Given the description of an element on the screen output the (x, y) to click on. 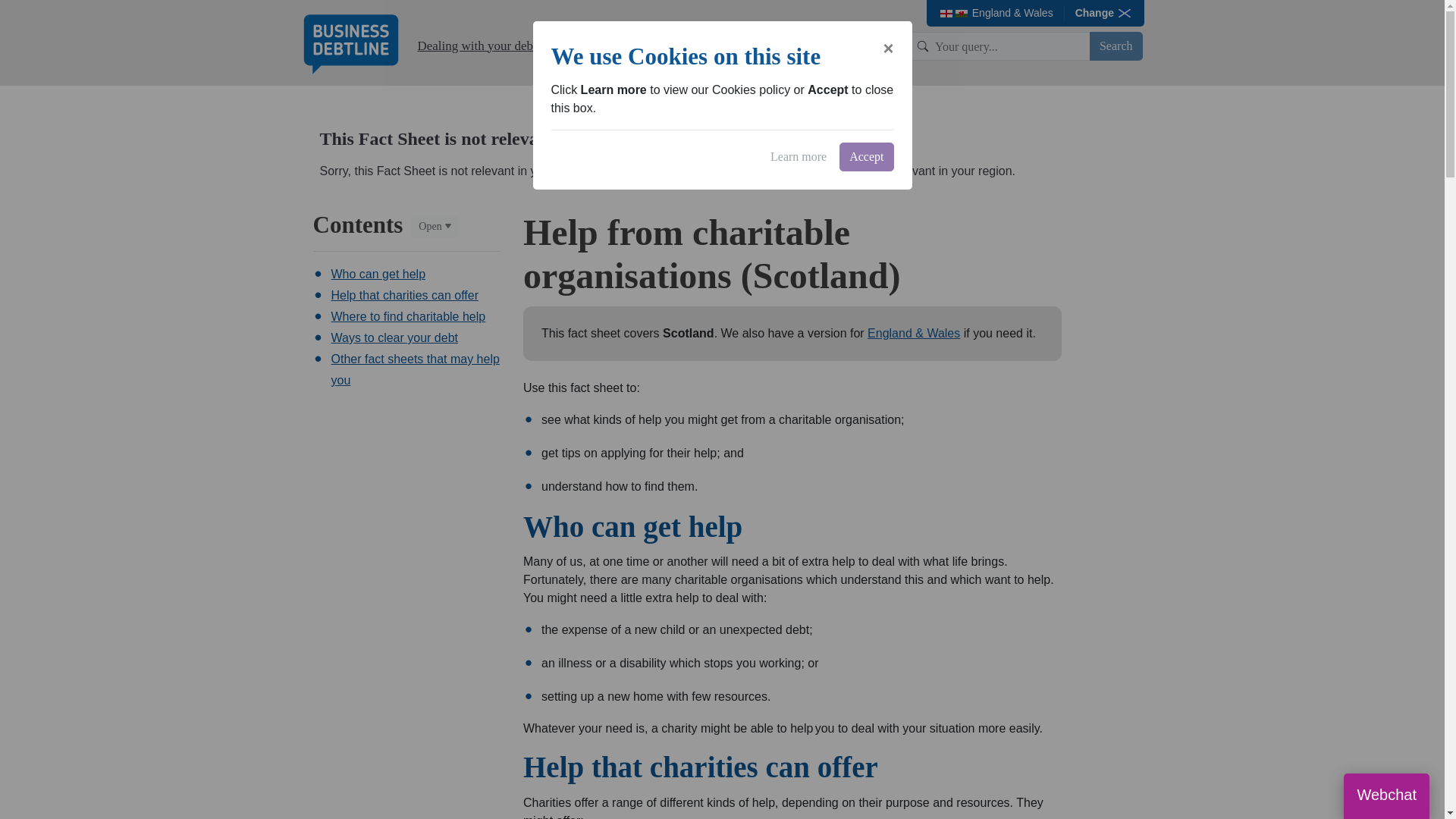
Where to find charitable help (407, 316)
Your budget (585, 45)
Ways to clear your debt (393, 337)
Sample letters (735, 45)
Search (1115, 45)
Accept (866, 156)
Dealing with your debts (478, 45)
Help that charities can offer (403, 295)
Open (434, 226)
Who can get help (377, 273)
Other fact sheets that may help you (414, 369)
Fact Sheet library (736, 170)
Cost of living (819, 45)
Learn more (797, 156)
